Given the description of an element on the screen output the (x, y) to click on. 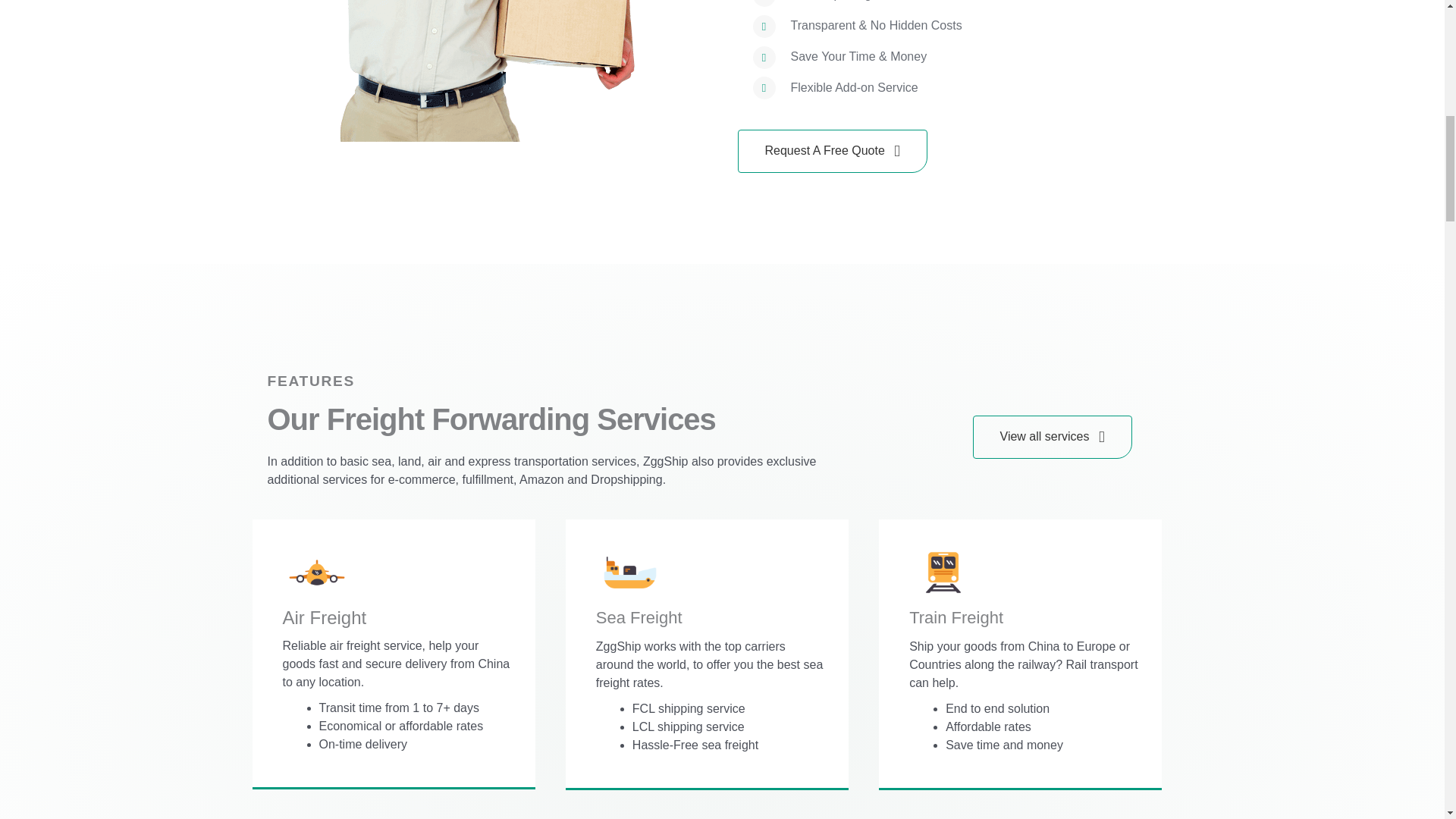
Request A Free Quote (831, 150)
View all services (1051, 436)
courier-man (442, 70)
